Given the description of an element on the screen output the (x, y) to click on. 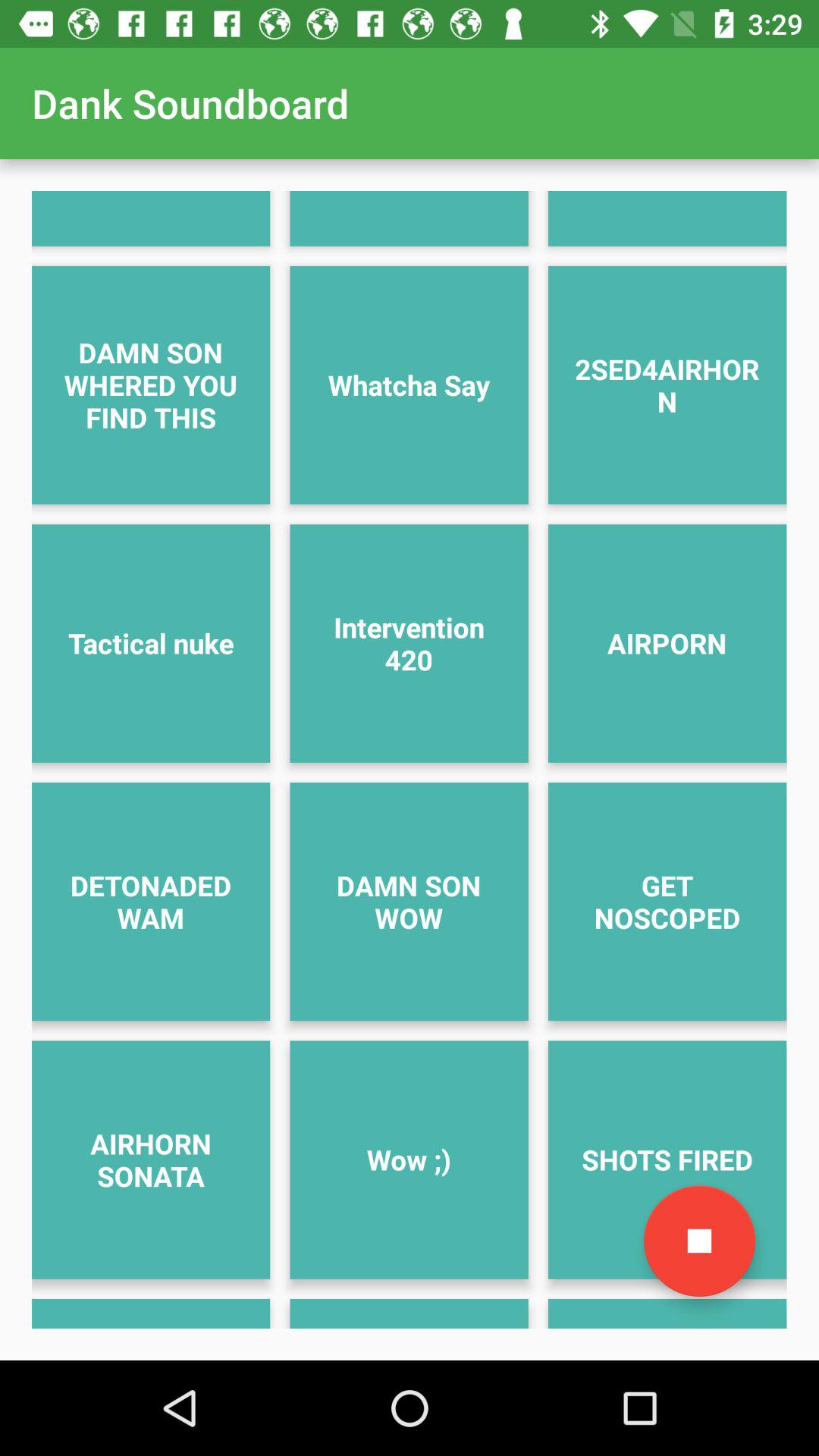
select the icon to the right of the wow ;) item (699, 1240)
